Given the description of an element on the screen output the (x, y) to click on. 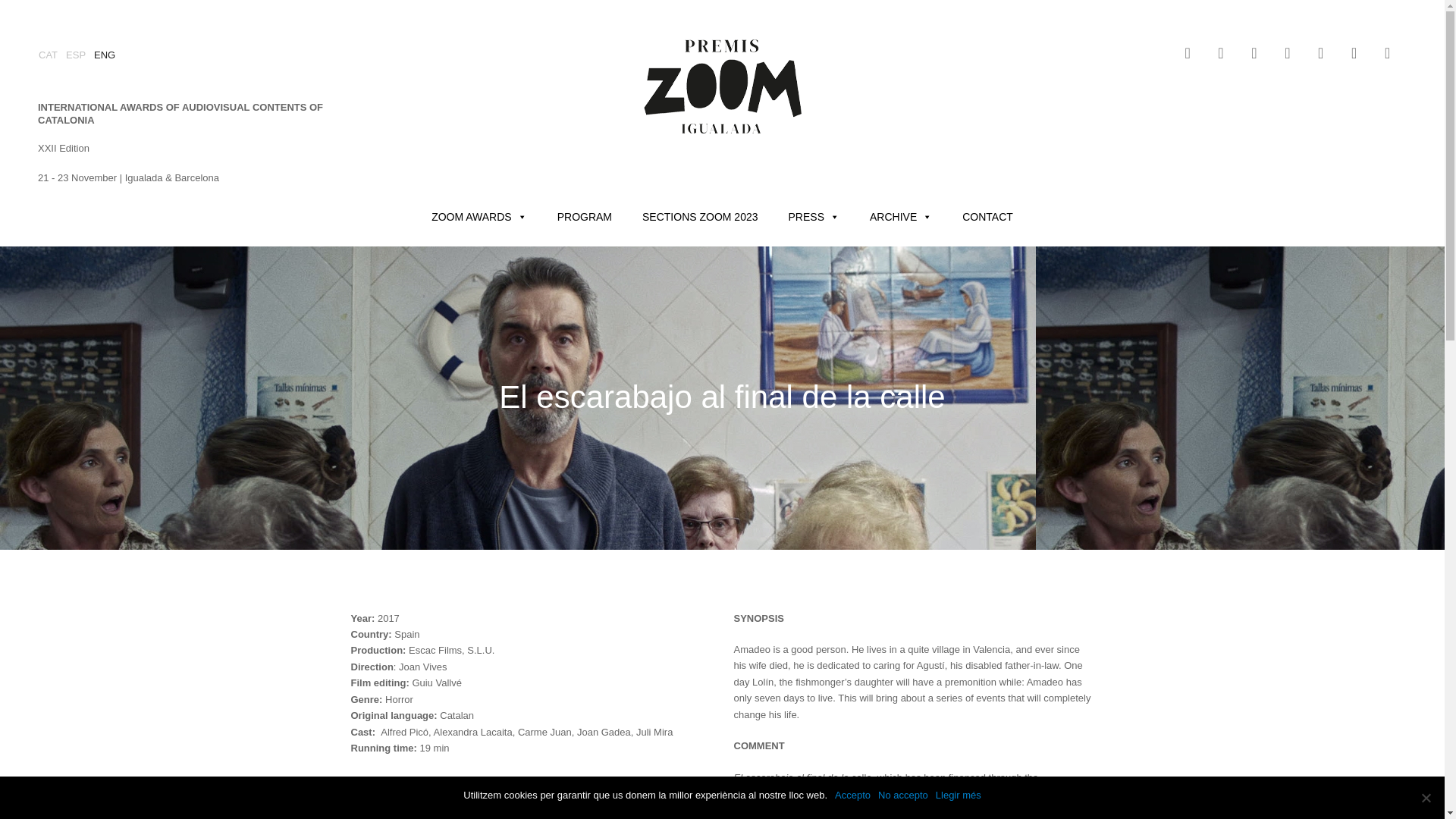
ENG (108, 54)
ESP (79, 54)
youtube (1286, 53)
facebook (1254, 53)
ZOOM AWARDS (478, 216)
CAT (52, 54)
CONTACT (987, 216)
twitter (1187, 53)
SECTIONS ZOOM 2023 (700, 216)
email (1353, 53)
PRESS (813, 216)
instagram (1220, 53)
phone (1386, 53)
rss (1320, 53)
ARCHIVE (900, 216)
